Given the description of an element on the screen output the (x, y) to click on. 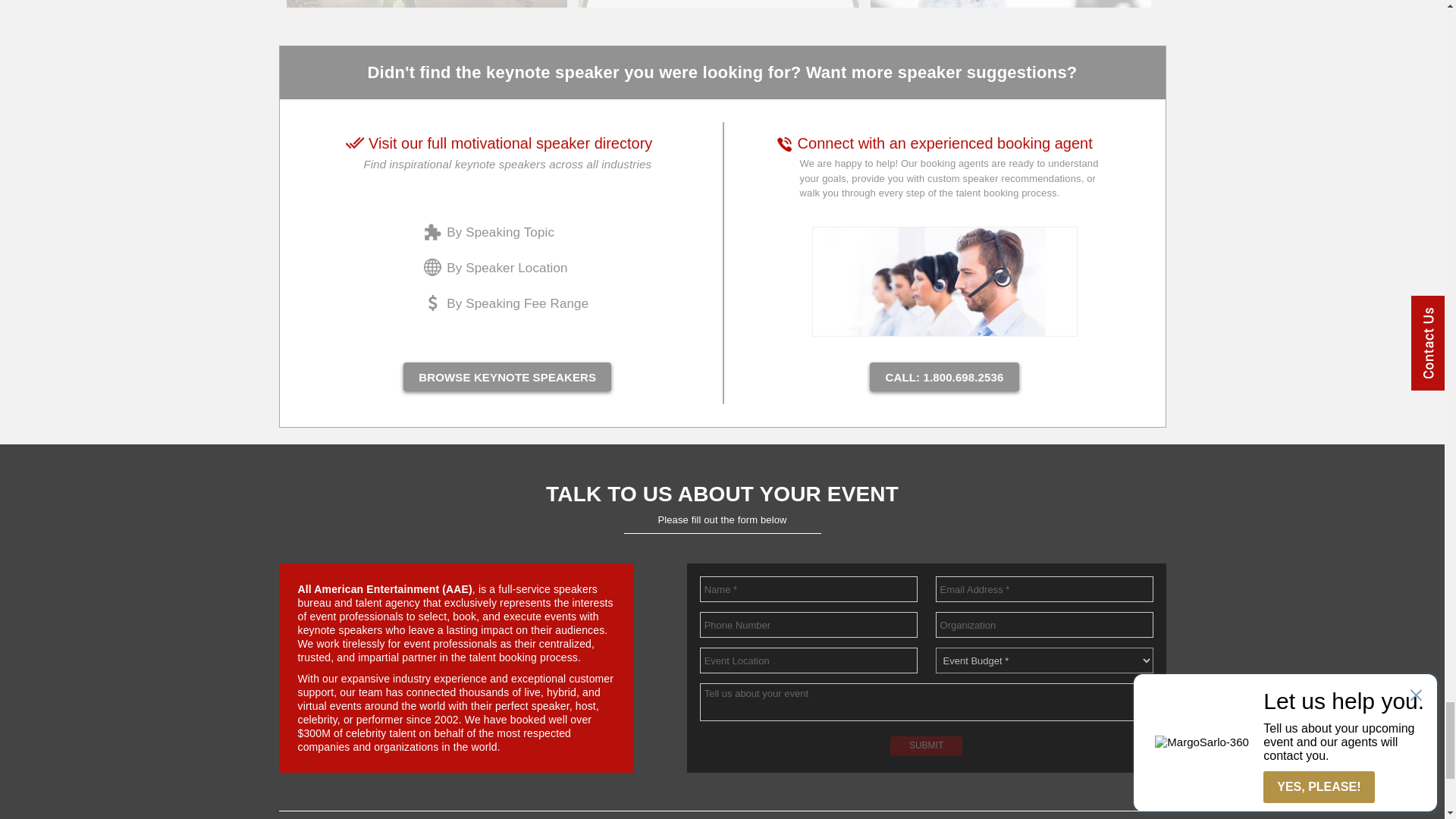
SUBMIT (925, 745)
Top Leadership Development Speakers to Improve Your Impact (1010, 3)
